Given the description of an element on the screen output the (x, y) to click on. 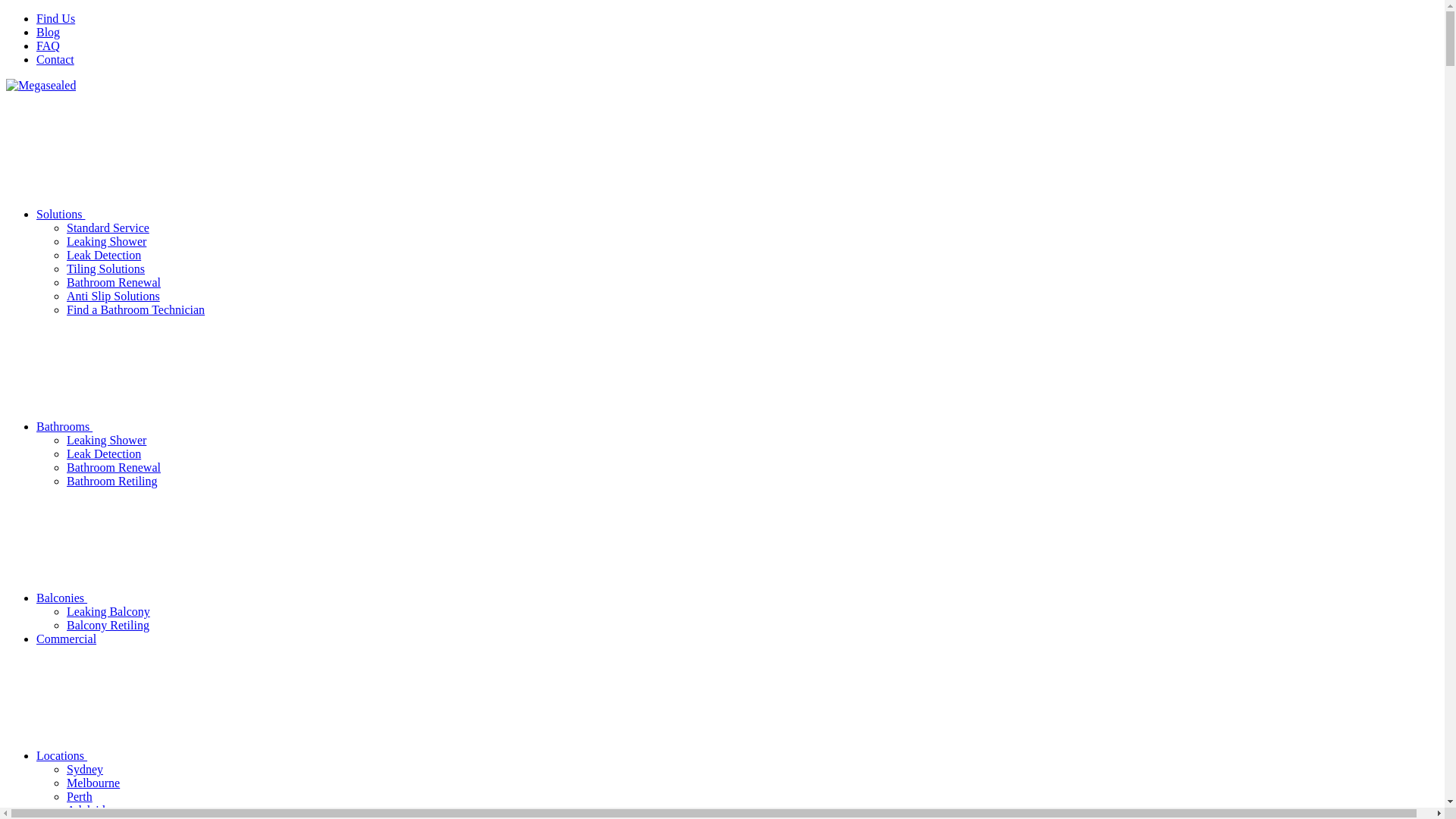
FAQ Element type: text (47, 45)
Balconies Element type: text (175, 597)
Bathroom Renewal Element type: text (113, 282)
Standard Service Element type: text (107, 227)
Leak Detection Element type: text (103, 453)
Sydney Element type: text (84, 768)
Leaking Balcony Element type: text (108, 611)
Bathroom Retiling Element type: text (111, 480)
Balcony Retiling Element type: text (107, 624)
Leaking Shower Element type: text (106, 439)
Tiling Solutions Element type: text (105, 268)
Find a Bathroom Technician Element type: text (135, 309)
Melbourne Element type: text (92, 782)
Anti Slip Solutions Element type: text (113, 295)
Bathroom Renewal Element type: text (113, 467)
Blog Element type: text (47, 31)
Perth Element type: text (79, 796)
Bathrooms Element type: text (178, 426)
Contact Element type: text (55, 59)
Commercial Element type: text (66, 638)
Find Us Element type: text (55, 18)
Leaking Shower Element type: text (106, 241)
Locations Element type: text (175, 755)
Leak Detection Element type: text (103, 254)
Adelaide Element type: text (88, 809)
Solutions Element type: text (174, 213)
